Given the description of an element on the screen output the (x, y) to click on. 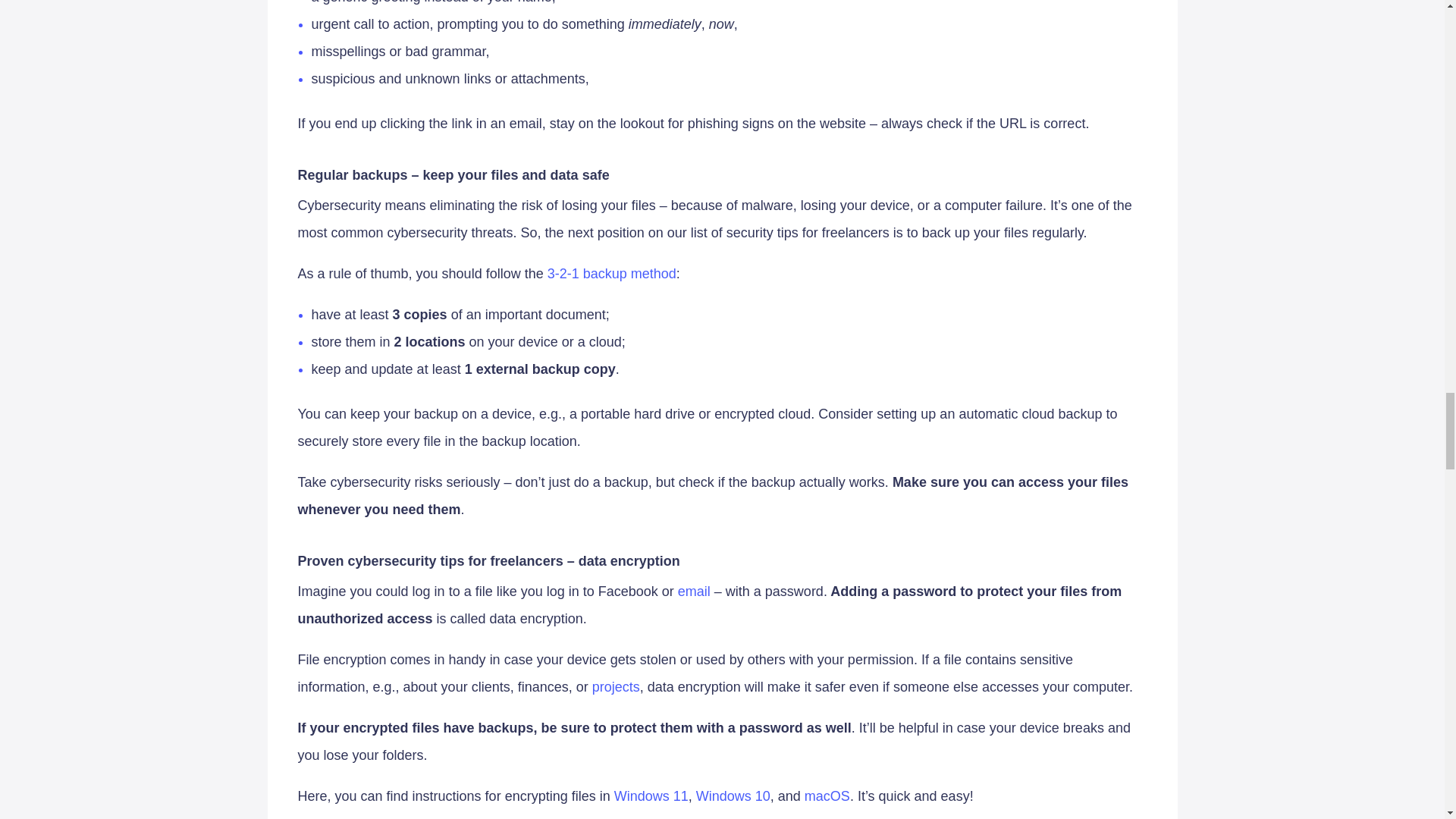
Windows 11 (651, 795)
email (694, 590)
Windows 10 (732, 795)
3-2-1 backup method (612, 273)
macOS (827, 795)
projects (616, 686)
